Given the description of an element on the screen output the (x, y) to click on. 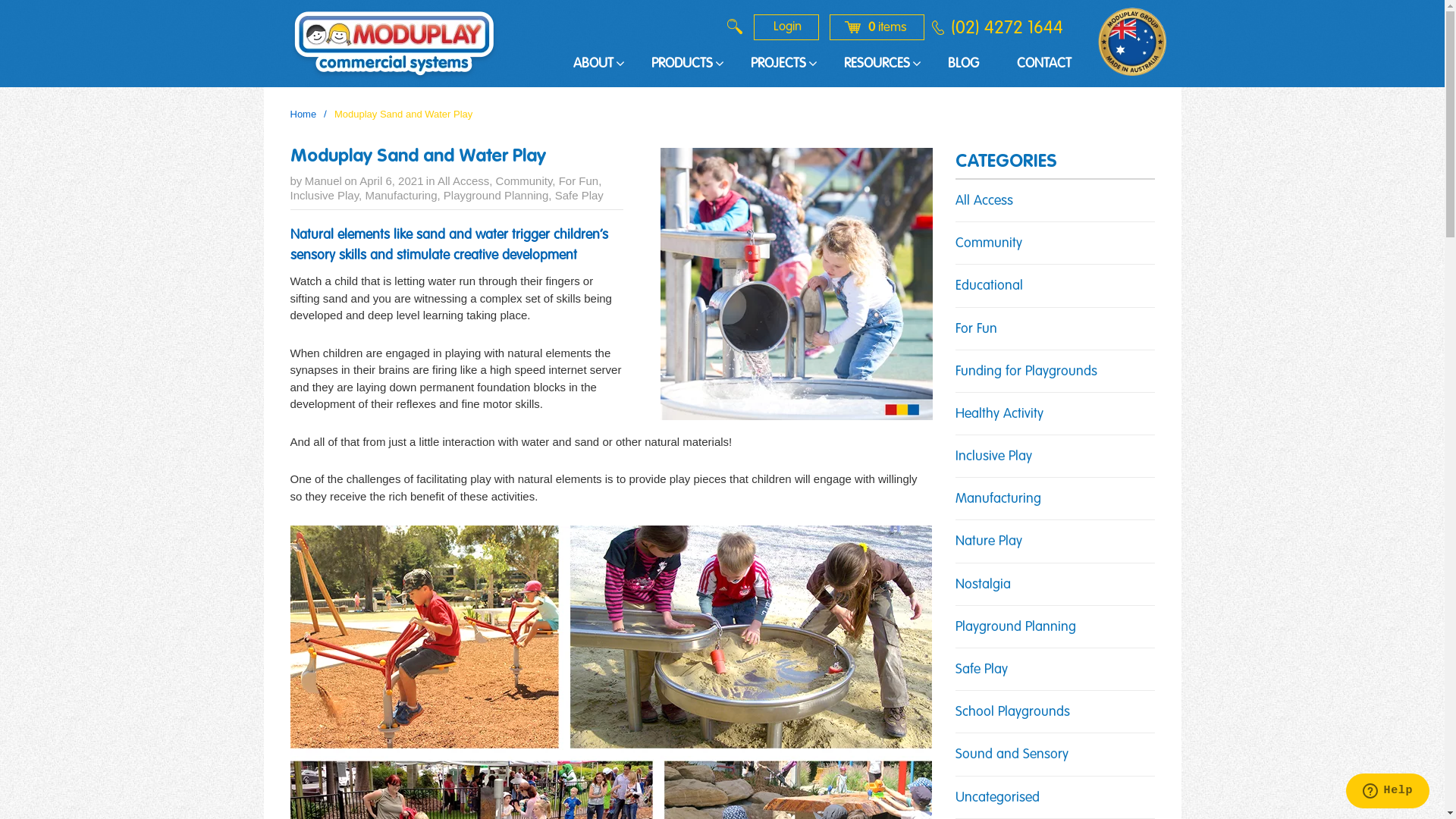
Inclusive Play Element type: text (323, 194)
Home Element type: text (302, 113)
Manuel Element type: text (323, 180)
(02) 4272 1644 Element type: text (1005, 27)
Funding for Playgrounds Element type: text (1026, 371)
Moduplay Sand and Water Play Element type: hover (795, 283)
All Access Element type: text (463, 180)
Healthy Activity Element type: text (999, 413)
Educational Element type: text (988, 285)
RESOURCES Element type: text (876, 63)
Safe Play Element type: text (981, 669)
CONTACT Element type: text (1043, 63)
Sound and Sensory Element type: text (1011, 754)
School Playgrounds Element type: text (1012, 711)
Community Element type: text (523, 180)
Safe Play Element type: text (579, 194)
Manufacturing Element type: text (400, 194)
Nature Play Element type: text (988, 541)
Manufacturing Element type: text (998, 498)
Opens a widget where you can chat to one of our agents Element type: hover (1387, 792)
0 items Element type: text (875, 27)
Inclusive Play Element type: text (993, 456)
PROJECTS Element type: text (777, 63)
Community Element type: text (988, 243)
Moduplay Sand and Water Play Element type: text (417, 156)
For Fun Element type: text (578, 180)
Uncategorised Element type: text (997, 797)
Playground Planning Element type: text (495, 194)
Login Element type: text (785, 27)
PRODUCTS Element type: text (681, 63)
For Fun Element type: text (976, 328)
Nostalgia Element type: text (982, 584)
All Access Element type: text (984, 200)
BLOG Element type: text (962, 63)
ABOUT Element type: text (592, 63)
Playground Planning Element type: text (1015, 626)
